Given the description of an element on the screen output the (x, y) to click on. 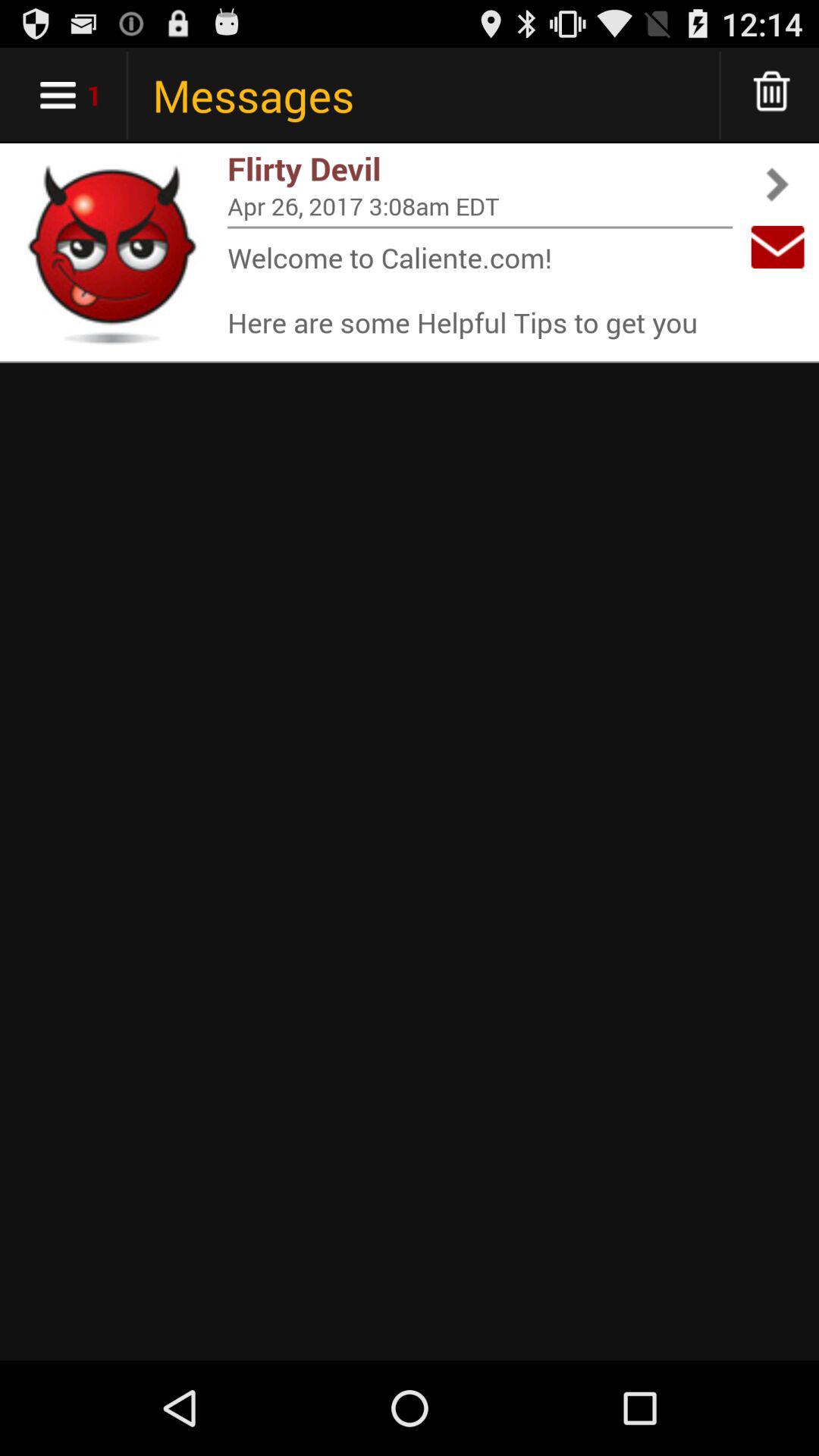
jump to flirty devil (479, 168)
